Given the description of an element on the screen output the (x, y) to click on. 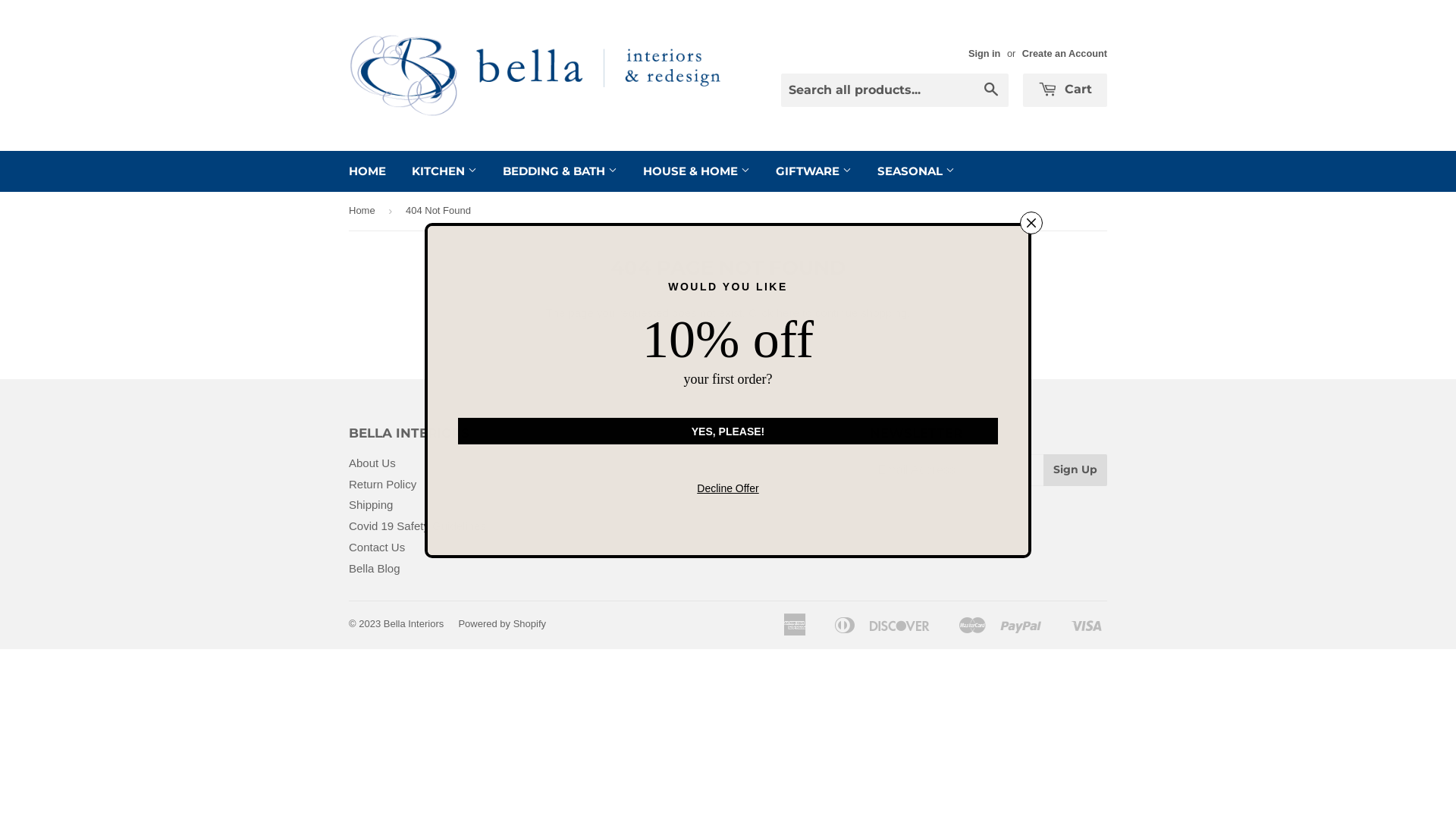
SEASONAL Element type: text (916, 170)
Powered by Shopify Element type: text (502, 623)
Shipping Element type: text (370, 504)
HOME Element type: text (367, 170)
About Us Element type: text (371, 462)
Create an Account Element type: text (1064, 53)
Return Policy Element type: text (382, 483)
Instagram Element type: text (589, 452)
Contact Us Element type: text (376, 546)
Search Element type: text (991, 90)
Home Element type: text (364, 210)
here Element type: text (787, 312)
HOUSE & HOME Element type: text (696, 170)
Bella Blog Element type: text (374, 567)
GIFTWARE Element type: text (813, 170)
Sign Up Element type: text (1075, 470)
Bella Interiors Element type: text (413, 623)
Sign in Element type: text (984, 53)
BEDDING & BATH Element type: text (559, 170)
KITCHEN Element type: text (444, 170)
Covid 19 Safety Guidelines Element type: text (417, 525)
Cart Element type: text (1064, 89)
Facebook Element type: text (555, 452)
